Given the description of an element on the screen output the (x, y) to click on. 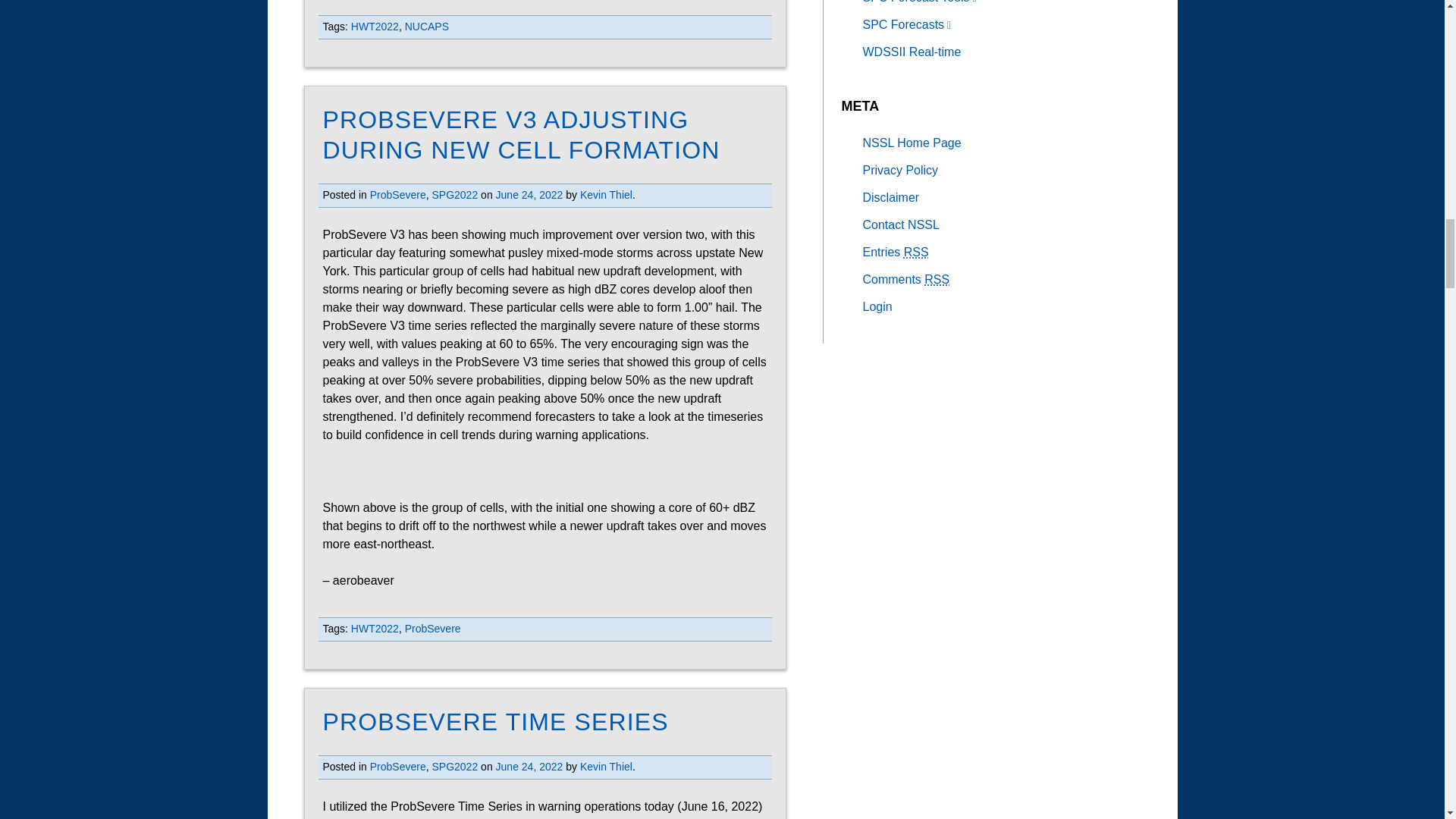
PROBSEVERE V3 ADJUSTING DURING NEW CELL FORMATION (521, 134)
ProbSevere (397, 194)
HWT2022 (374, 26)
NUCAPS (426, 26)
